Given the description of an element on the screen output the (x, y) to click on. 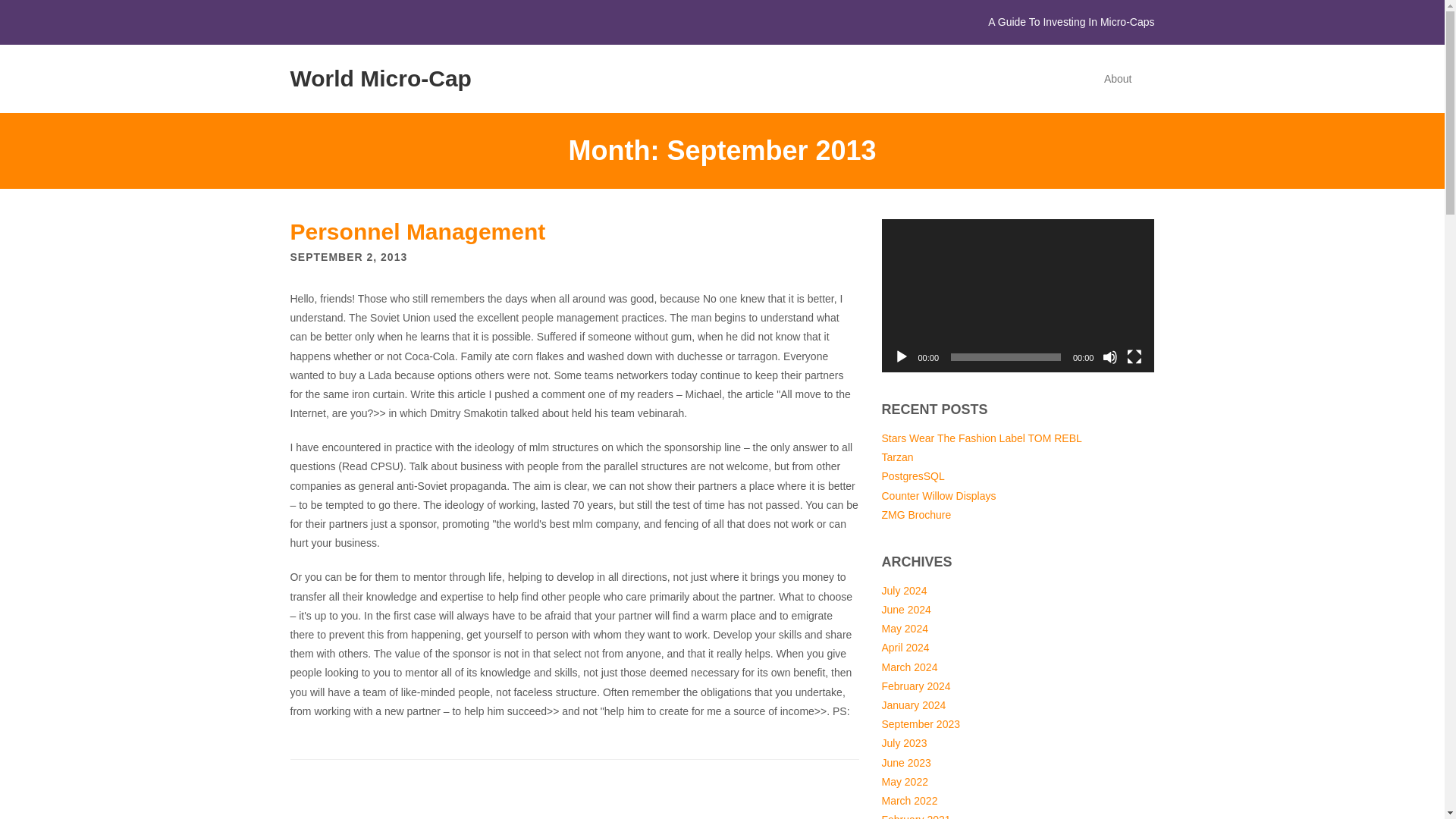
June 2023 (905, 762)
World Micro-Cap (379, 78)
Tarzan (896, 457)
January 2024 (912, 705)
ZMG Brochure (915, 514)
February 2021 (915, 816)
Mute (1110, 356)
September 2023 (919, 724)
May 2022 (903, 781)
March 2024 (908, 666)
March 2022 (908, 800)
June 2024 (905, 609)
Personnel Management (416, 231)
Play (900, 356)
PostgresSQL (911, 476)
